Given the description of an element on the screen output the (x, y) to click on. 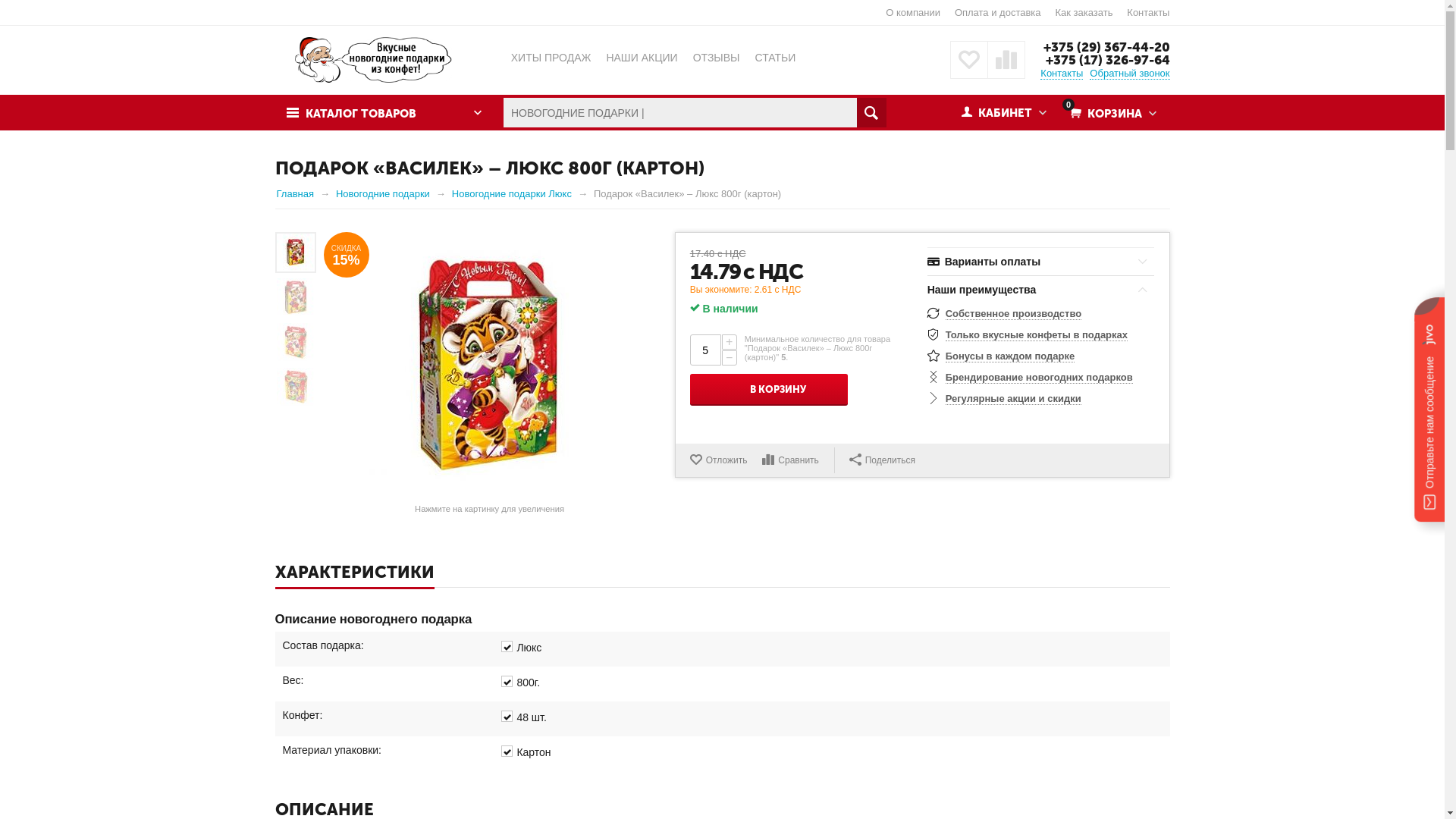
+375 (29) 367-44-20 Element type: text (1106, 46)
+ Element type: text (729, 341)
+375 (17) 326-97-64 Element type: text (1106, 59)
